Given the description of an element on the screen output the (x, y) to click on. 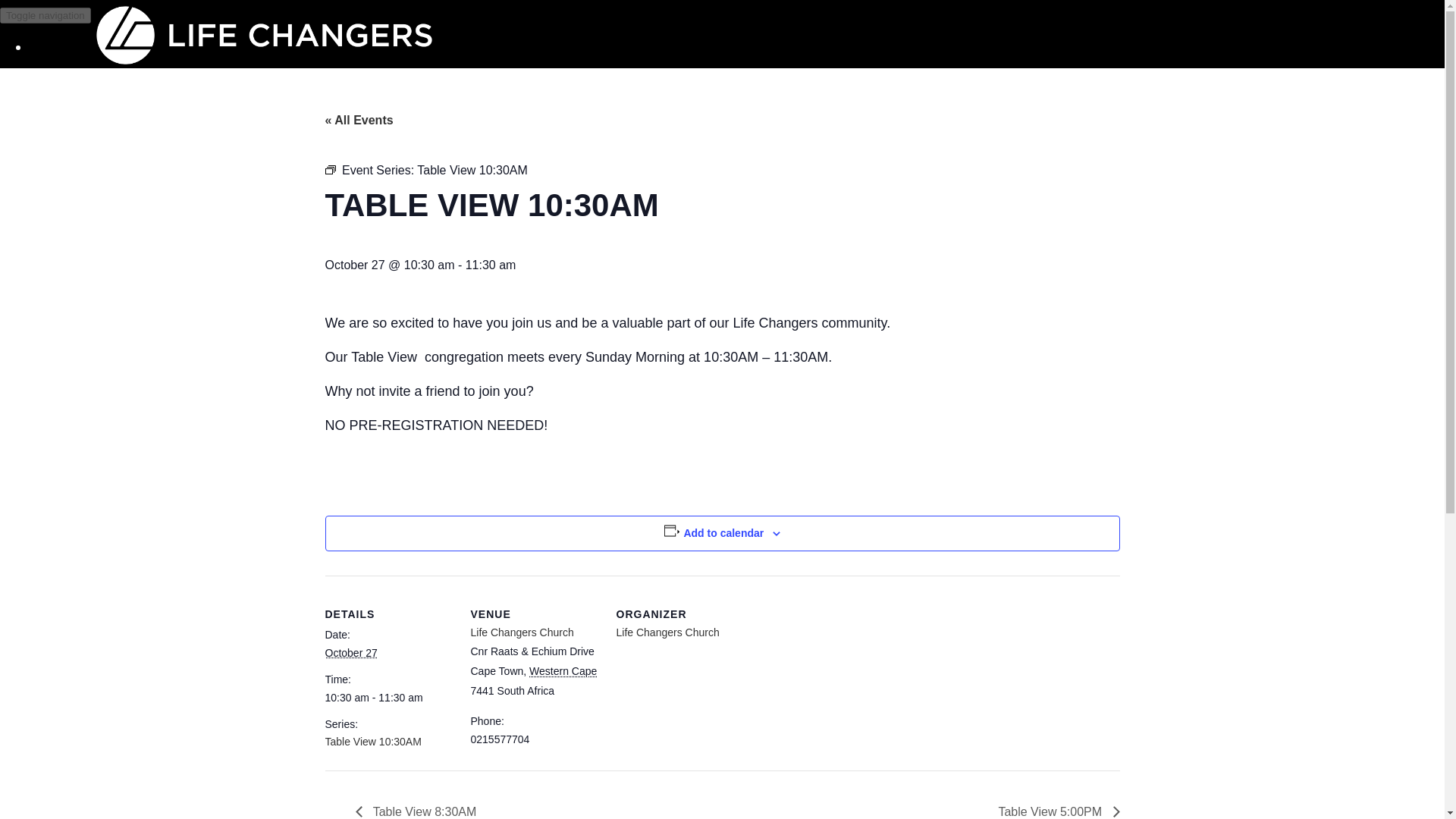
Table View 10:30AM (372, 741)
Add to calendar (722, 532)
Table View 10:30AM (372, 741)
Table View 8:30AM (419, 811)
Table View 10:30AM (471, 169)
Western Cape (562, 671)
Life Changers (668, 40)
Event Series: (329, 169)
2024-10-27 (350, 653)
Toggle navigation (45, 15)
Life Changers Church (521, 632)
Life Changers Church (667, 632)
Table View 5:00PM (1054, 811)
2024-10-27 (387, 697)
Recurring Event (329, 169)
